Given the description of an element on the screen output the (x, y) to click on. 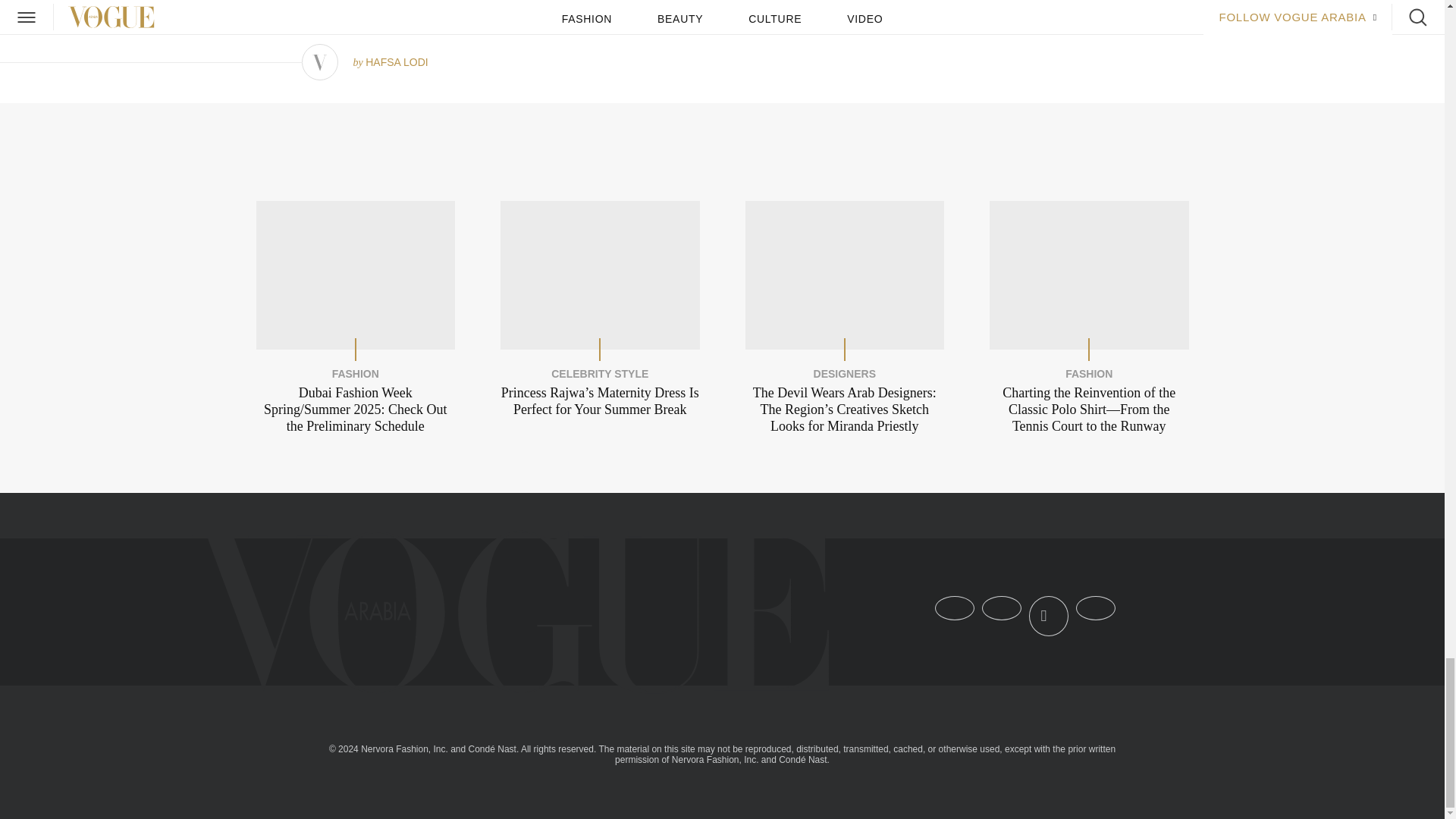
HAFSA LODI (396, 61)
DESIGNERS (844, 373)
FASHION (354, 373)
CELEBRITY STYLE (599, 373)
Posts by Hafsa Lodi (396, 61)
